Given the description of an element on the screen output the (x, y) to click on. 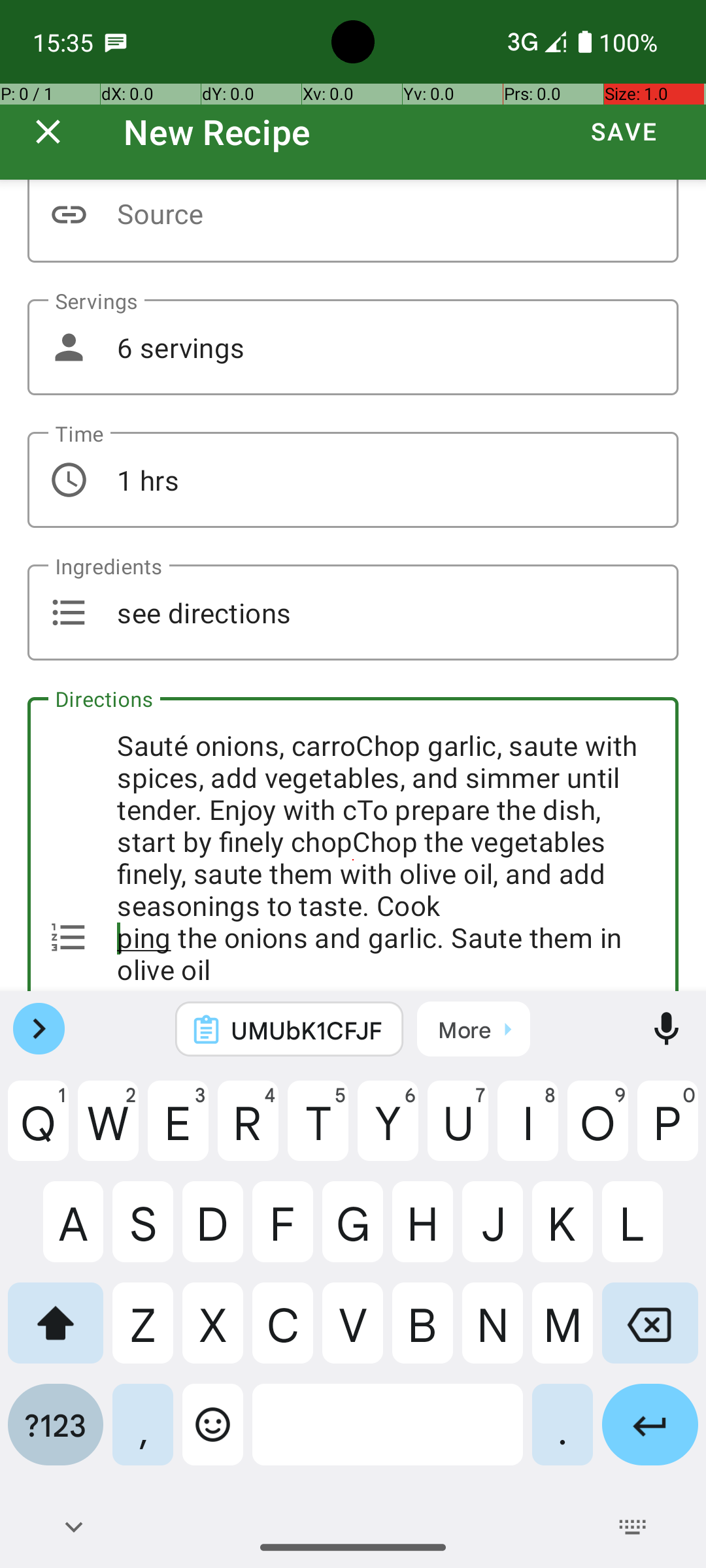
Source Element type: android.widget.EditText (352, 220)
6 servings Element type: android.widget.EditText (352, 347)
1 hrs Element type: android.widget.EditText (352, 479)
see directions Element type: android.widget.EditText (352, 612)
Sauté onions, carroChop garlic, saute with spices, add vegetables, and simmer until tender. Enjoy with cTo prepare the dish, start by finely chopChop the vegetables finely, saute them with olive oil, and add seasonings to taste. Cook
ping the onions and garlic. Saute them in olive oil
rusty
ts, and celery, add broth, canned tomatoes, and chickpeas. Simmer with spinach and seasonings. Feel free to substitute with ingredients you have on hand. Element type: android.widget.EditText (352, 844)
